Given the description of an element on the screen output the (x, y) to click on. 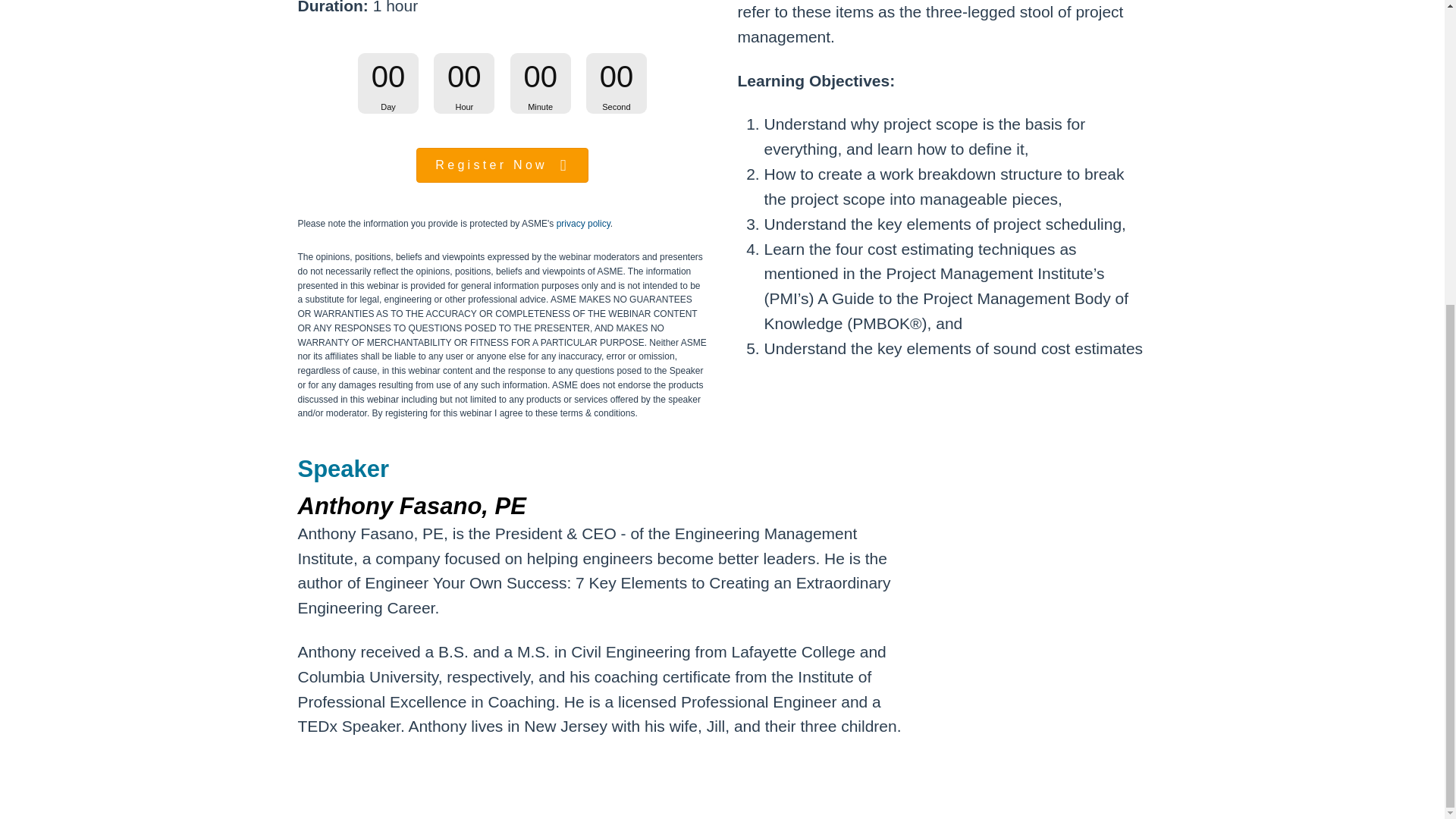
Anthony Fasano, PE (1032, 635)
privacy policy (583, 223)
Register Now (502, 165)
